Given the description of an element on the screen output the (x, y) to click on. 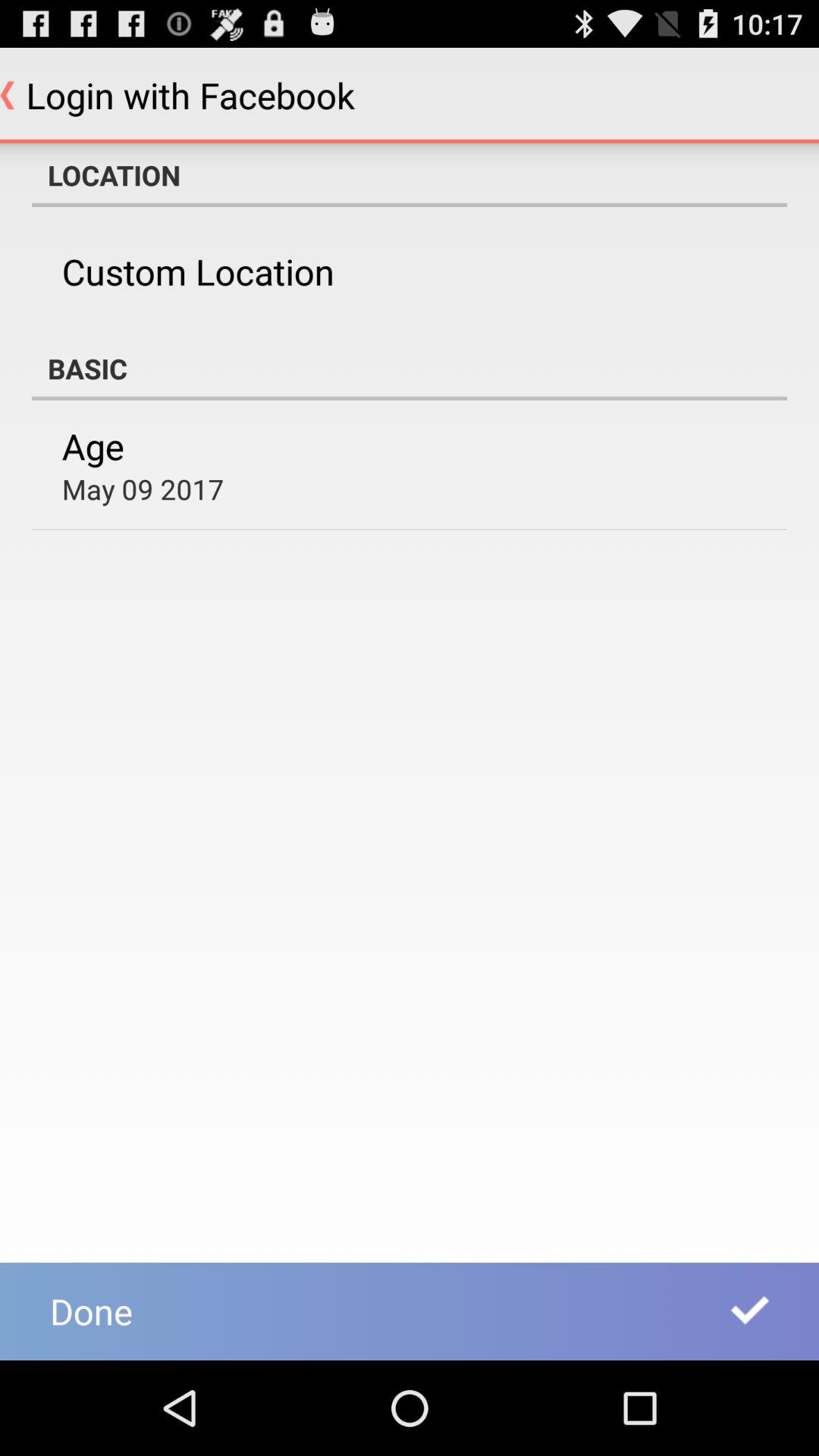
press item above may 09 2017 app (92, 446)
